Given the description of an element on the screen output the (x, y) to click on. 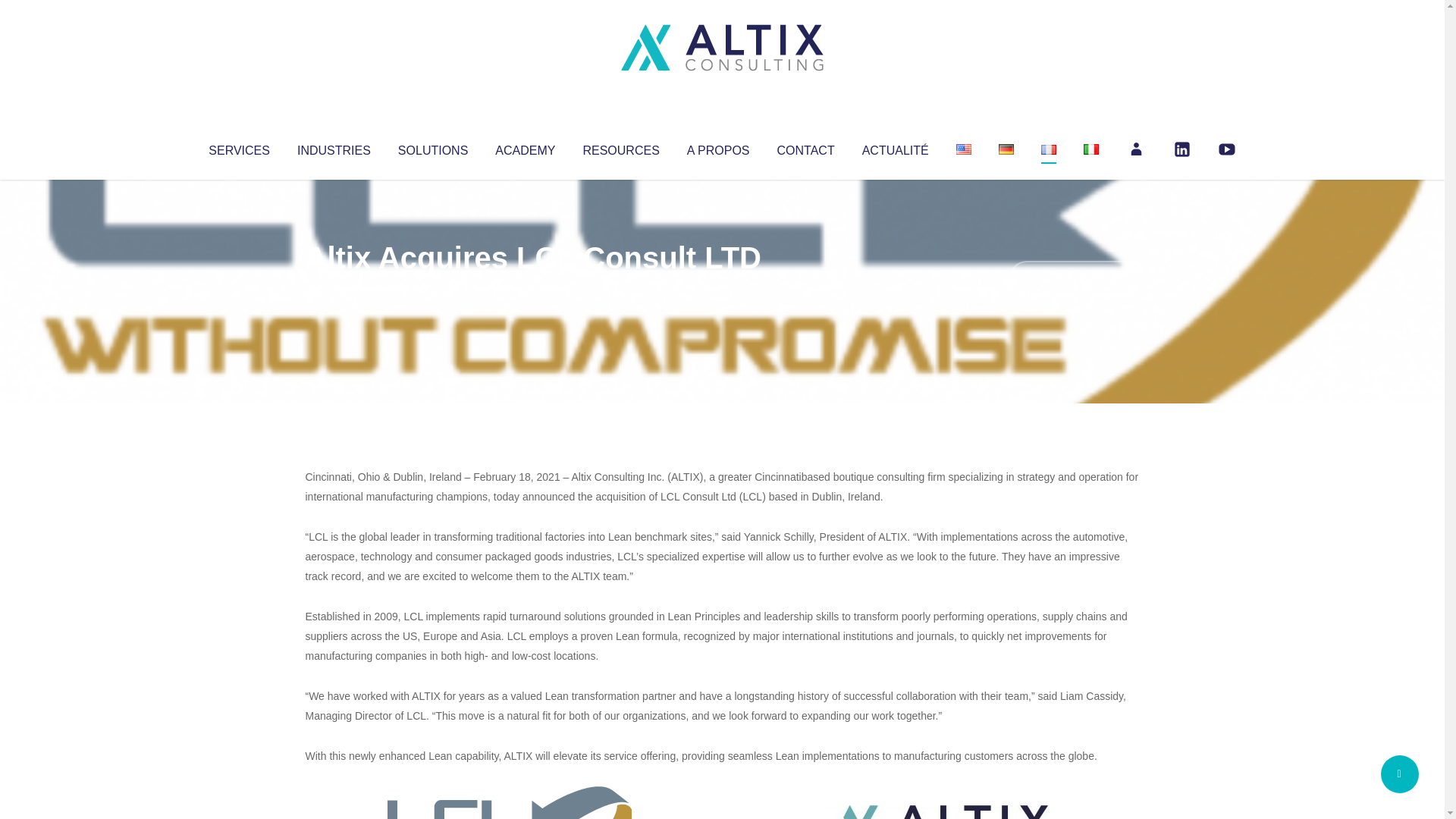
A PROPOS (718, 146)
Uncategorized (530, 287)
SOLUTIONS (432, 146)
RESOURCES (620, 146)
ACADEMY (524, 146)
Altix (333, 287)
Articles par Altix (333, 287)
No Comments (1073, 278)
SERVICES (238, 146)
INDUSTRIES (334, 146)
